Given the description of an element on the screen output the (x, y) to click on. 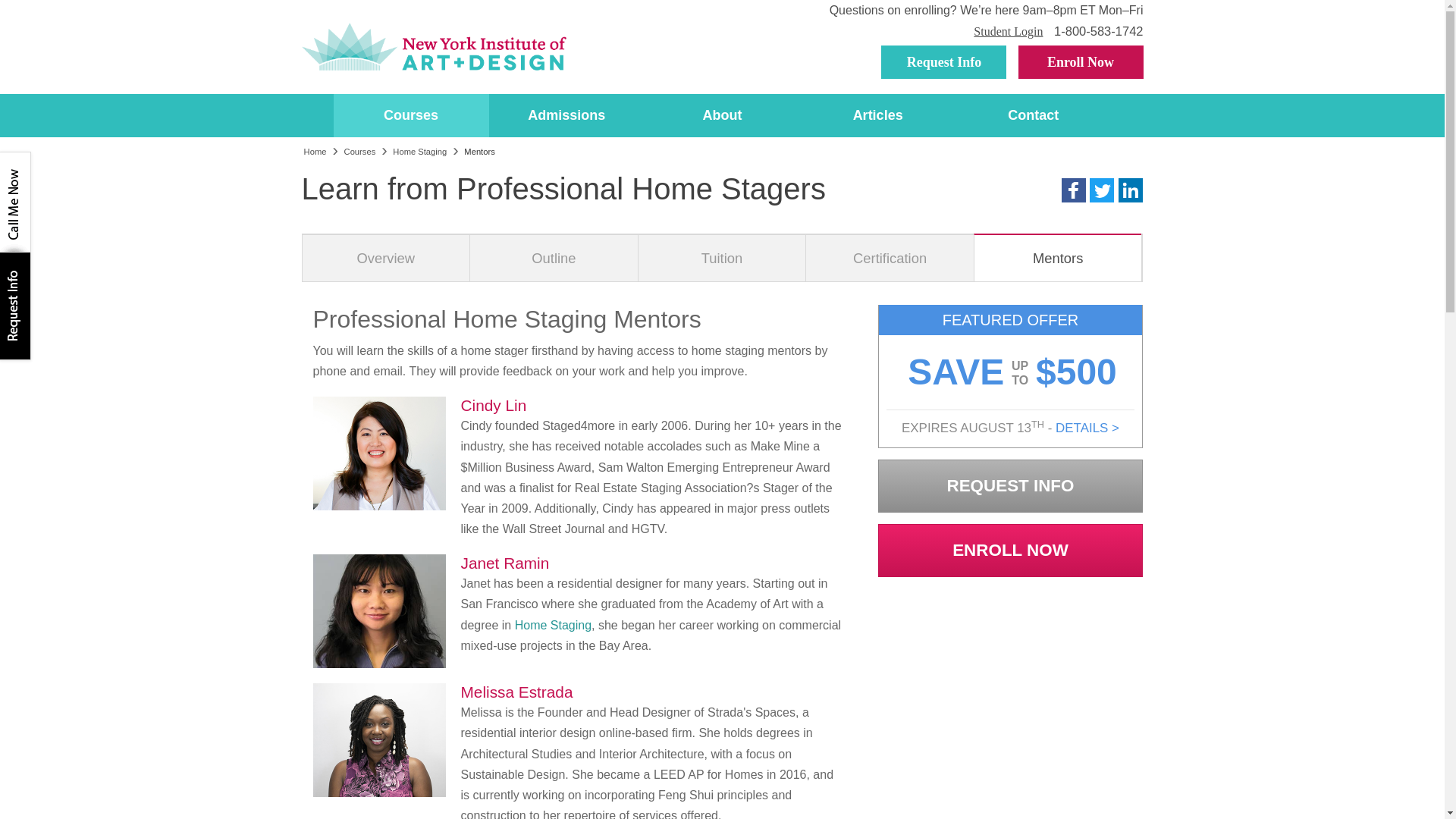
Request Info (943, 61)
1-800-583-1742 (1098, 30)
New York Institute of Art and Design (433, 46)
Admissions (567, 115)
Enroll Now (1079, 61)
Courses (411, 115)
Melissa Estrada (379, 739)
Student Login (1008, 31)
About (722, 115)
Janet Ramin (379, 611)
Articles (877, 115)
Cindy Lin (379, 453)
